Given the description of an element on the screen output the (x, y) to click on. 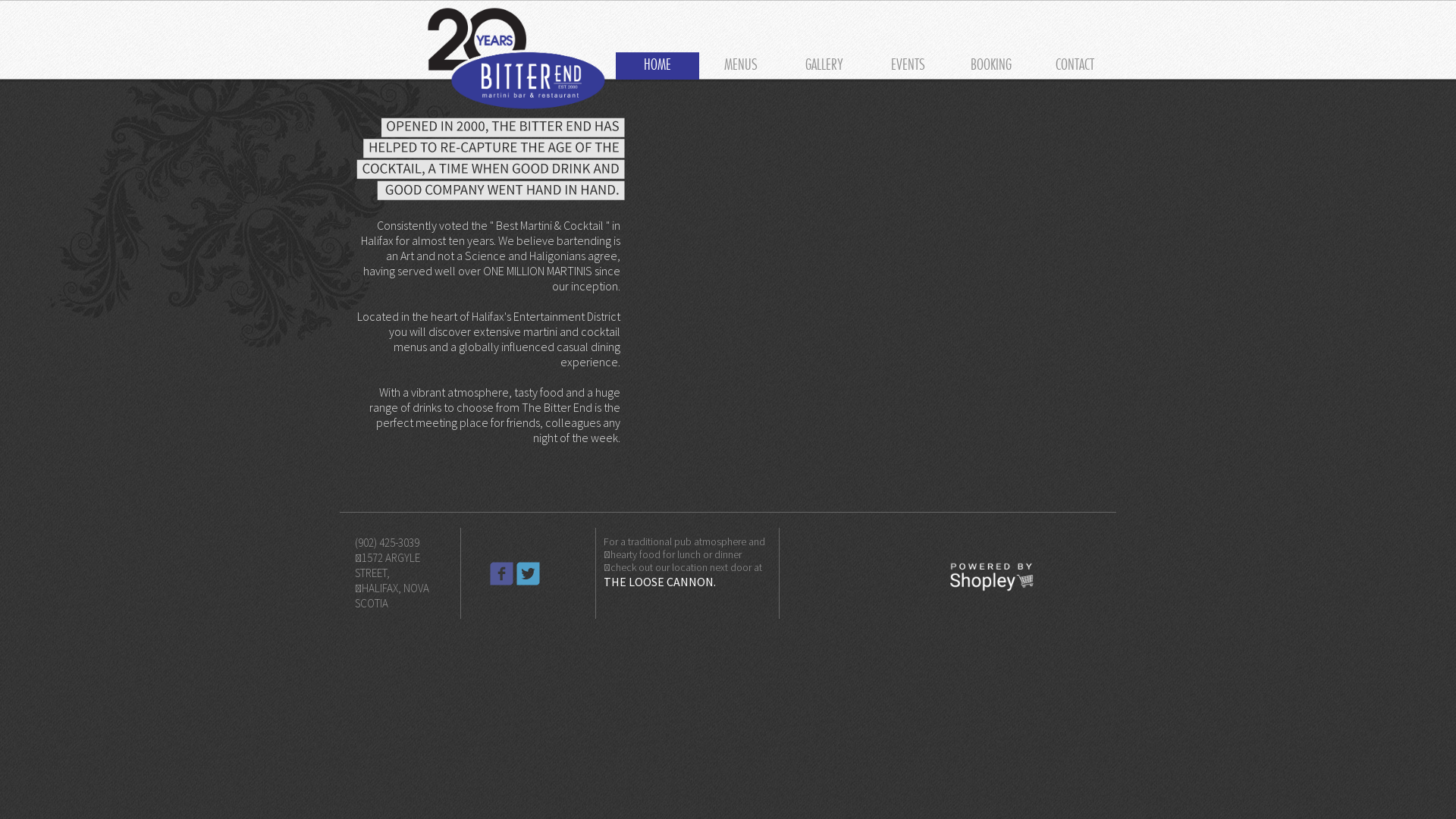
THE LOOSE CANNON. Element type: text (659, 581)
MENUS Element type: text (740, 64)
